Given the description of an element on the screen output the (x, y) to click on. 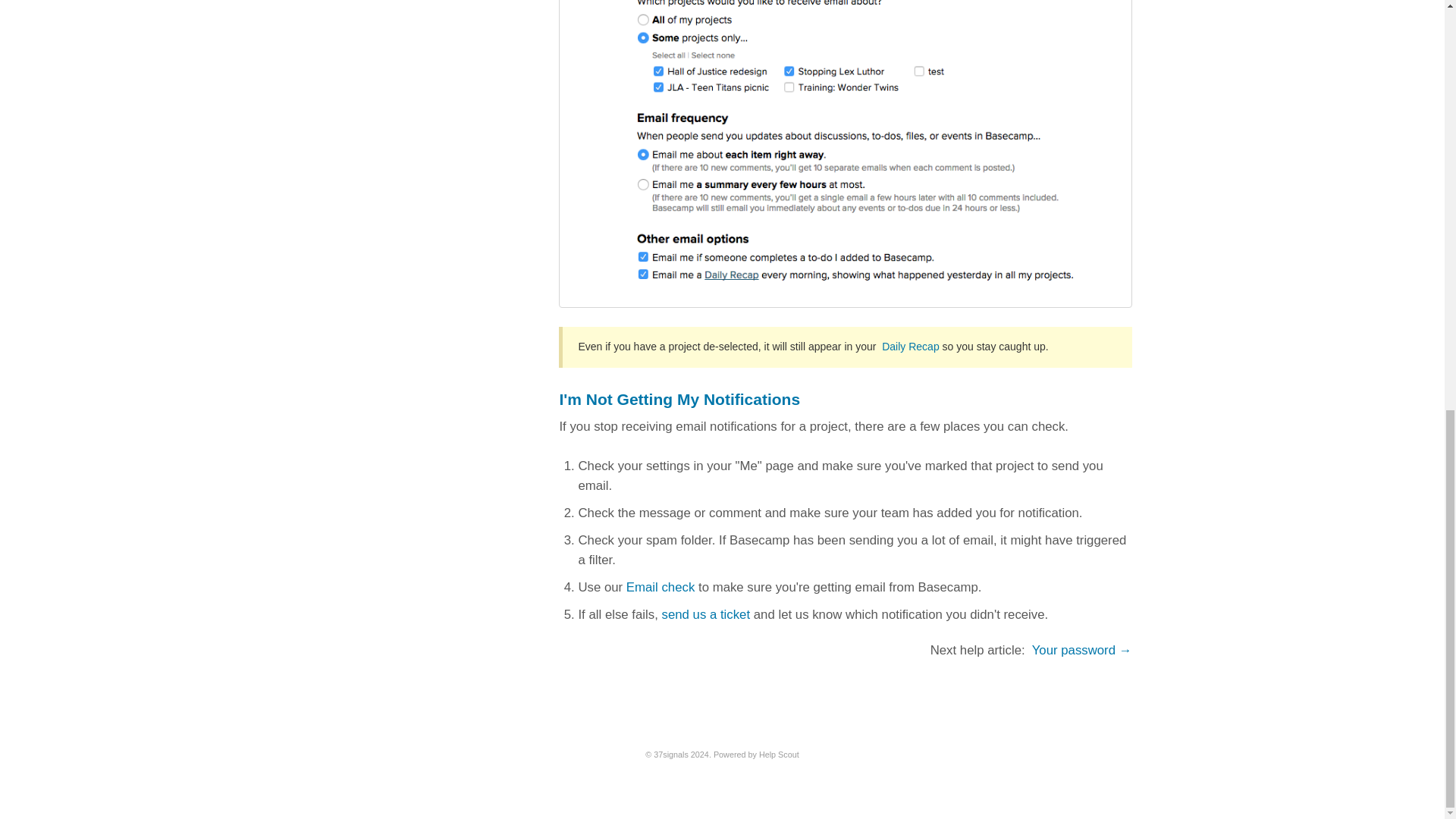
Daily Recap (910, 346)
37signals (670, 754)
I'm Not Getting My Notifications (679, 398)
Email check (660, 586)
Help Scout (778, 754)
send us a ticket (705, 614)
